Given the description of an element on the screen output the (x, y) to click on. 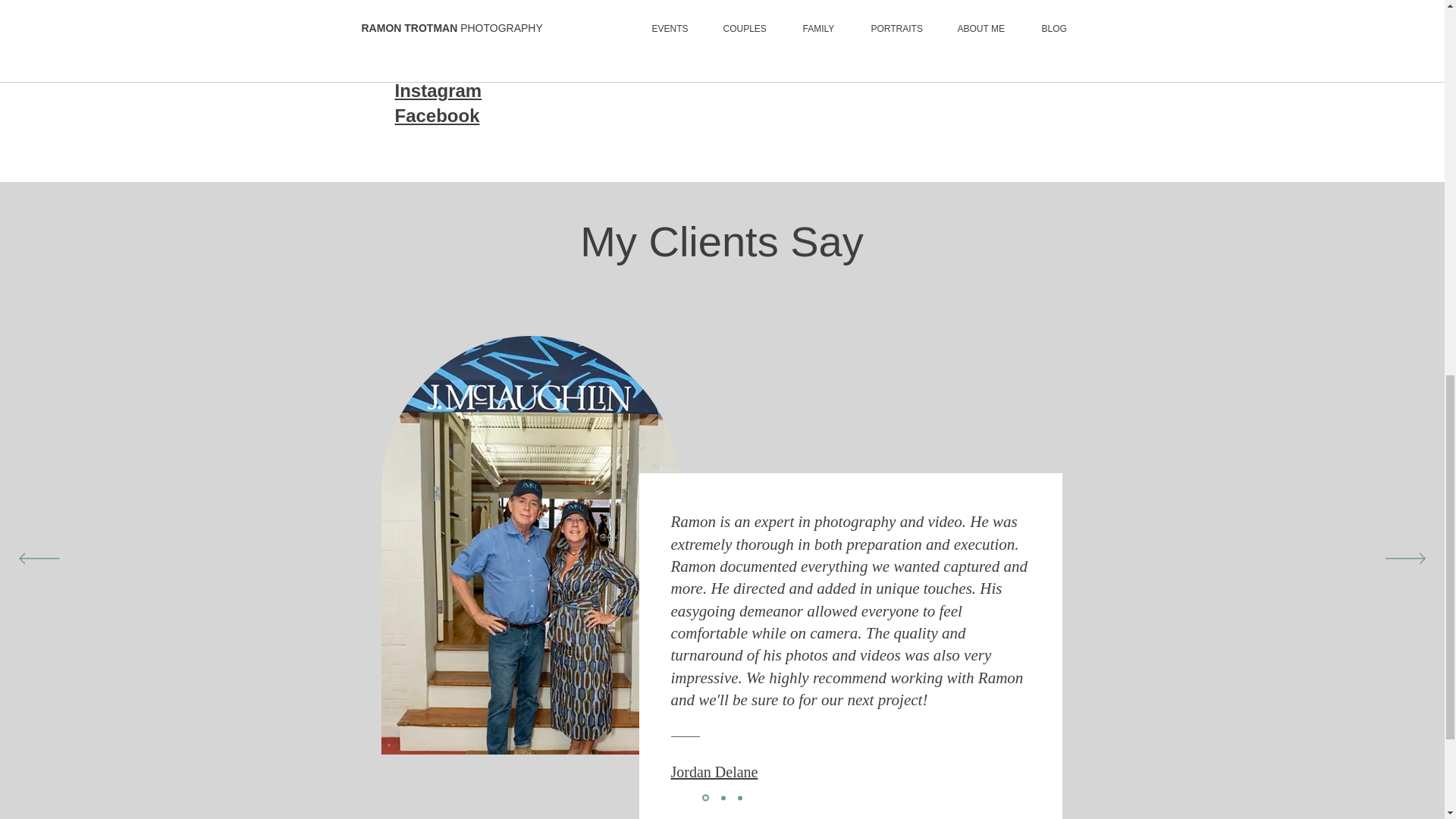
Facebook (436, 115)
Jordan Delane (713, 771)
Instagram (437, 90)
